Given the description of an element on the screen output the (x, y) to click on. 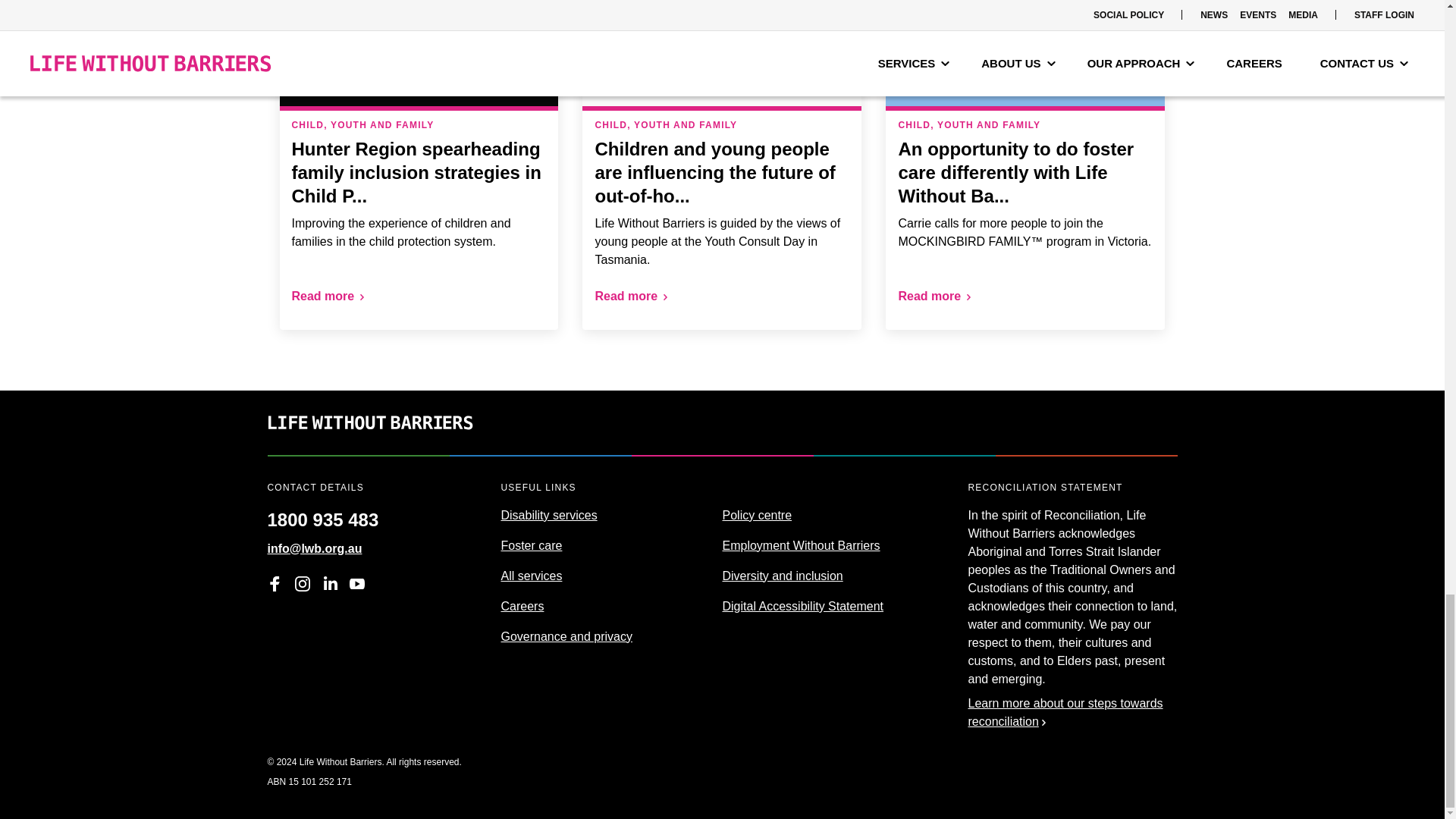
Life Without Barriers home page (368, 445)
1800 935 483 (322, 513)
